Given the description of an element on the screen output the (x, y) to click on. 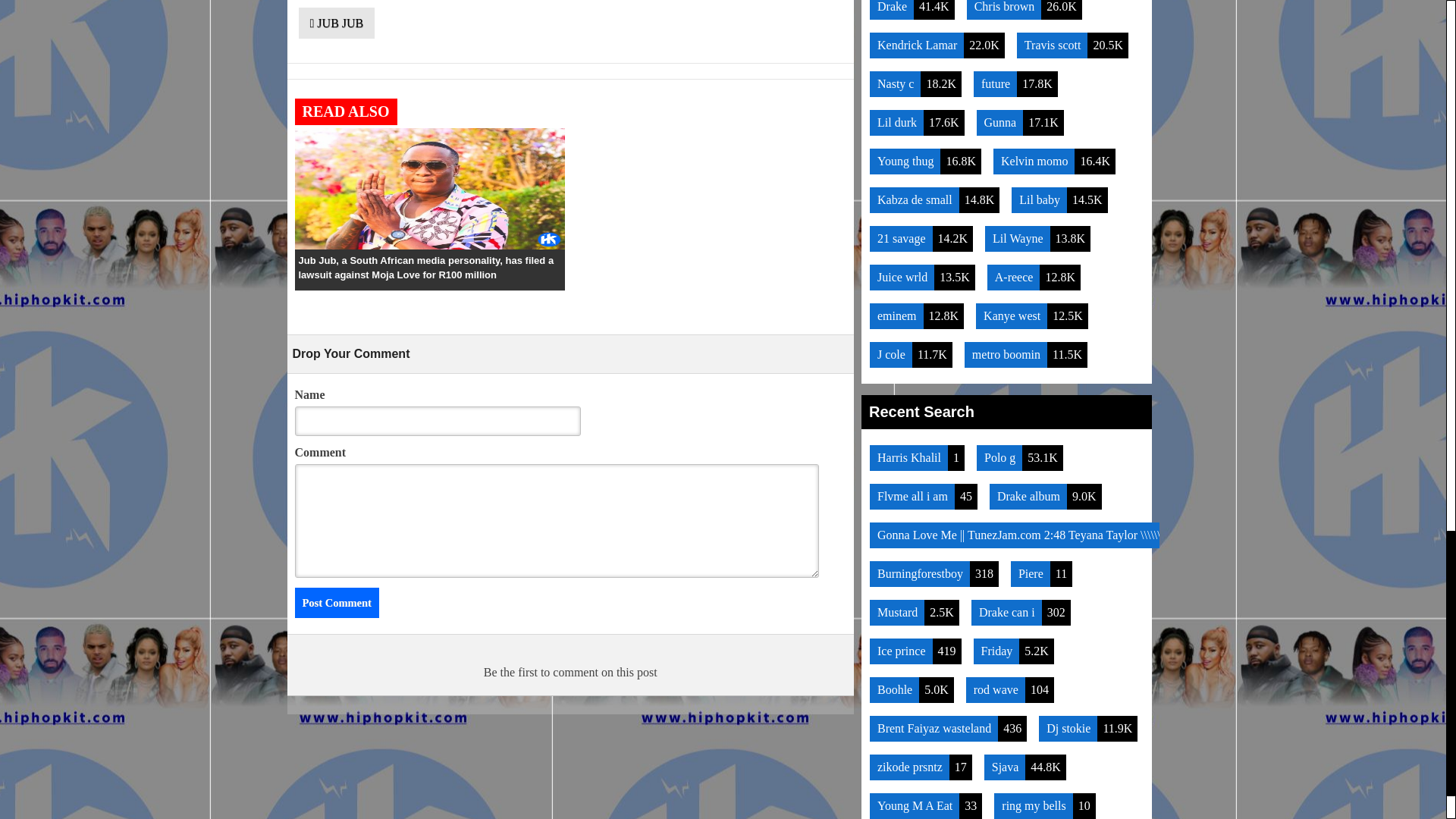
Post Comment (336, 603)
Post Comment (336, 603)
JUB JUB (336, 22)
